Given the description of an element on the screen output the (x, y) to click on. 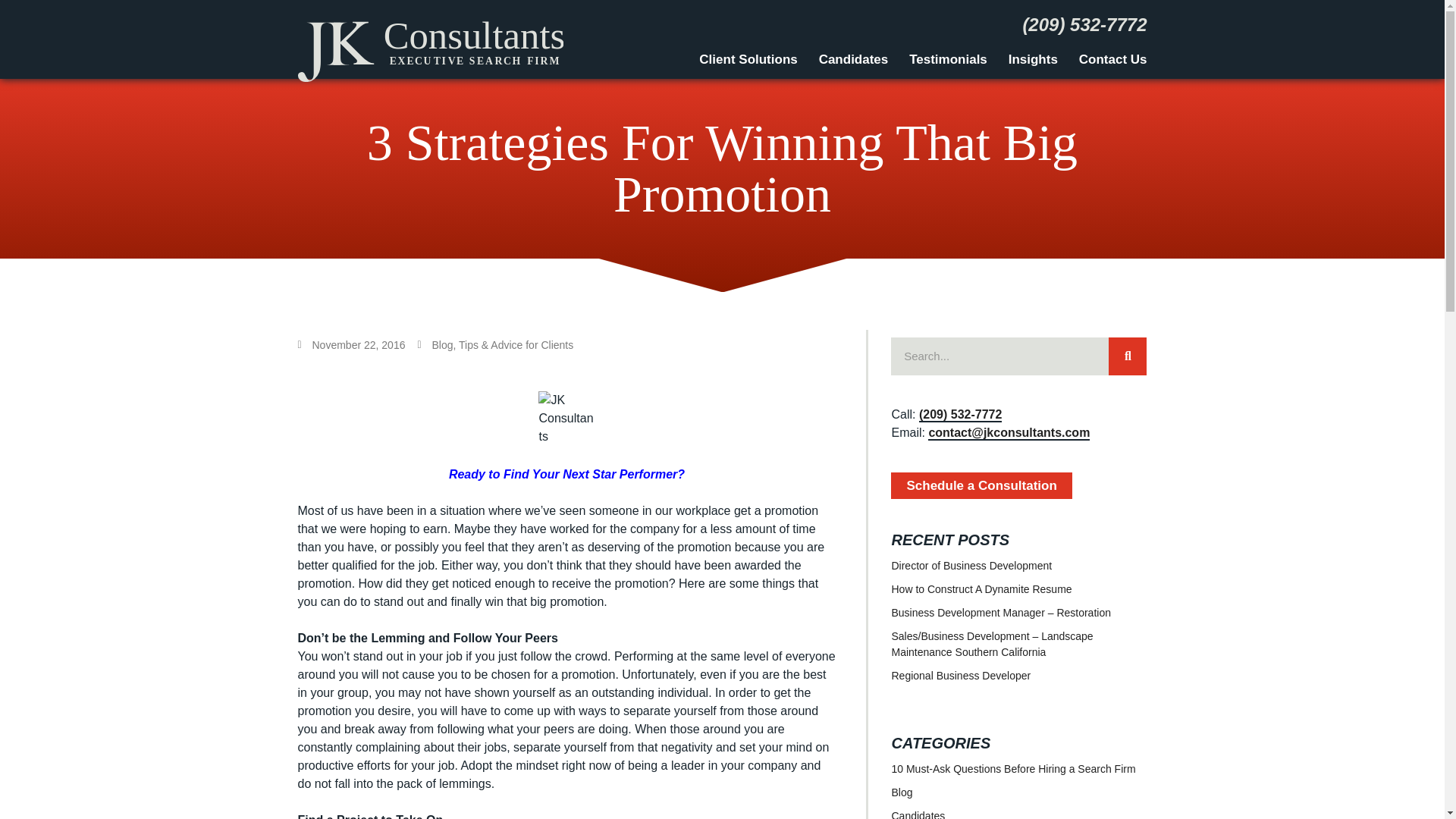
Insights (1032, 58)
Client Solutions (748, 58)
Testimonials (947, 58)
10 Must-Ask Questions Before Hiring a Search Firm (1013, 768)
Contact Us (1108, 58)
Director of Business Development (971, 565)
Blog (901, 791)
How to Construct A Dynamite Resume (981, 588)
Schedule a Consultation (981, 484)
November 22, 2016 (350, 344)
